Given the description of an element on the screen output the (x, y) to click on. 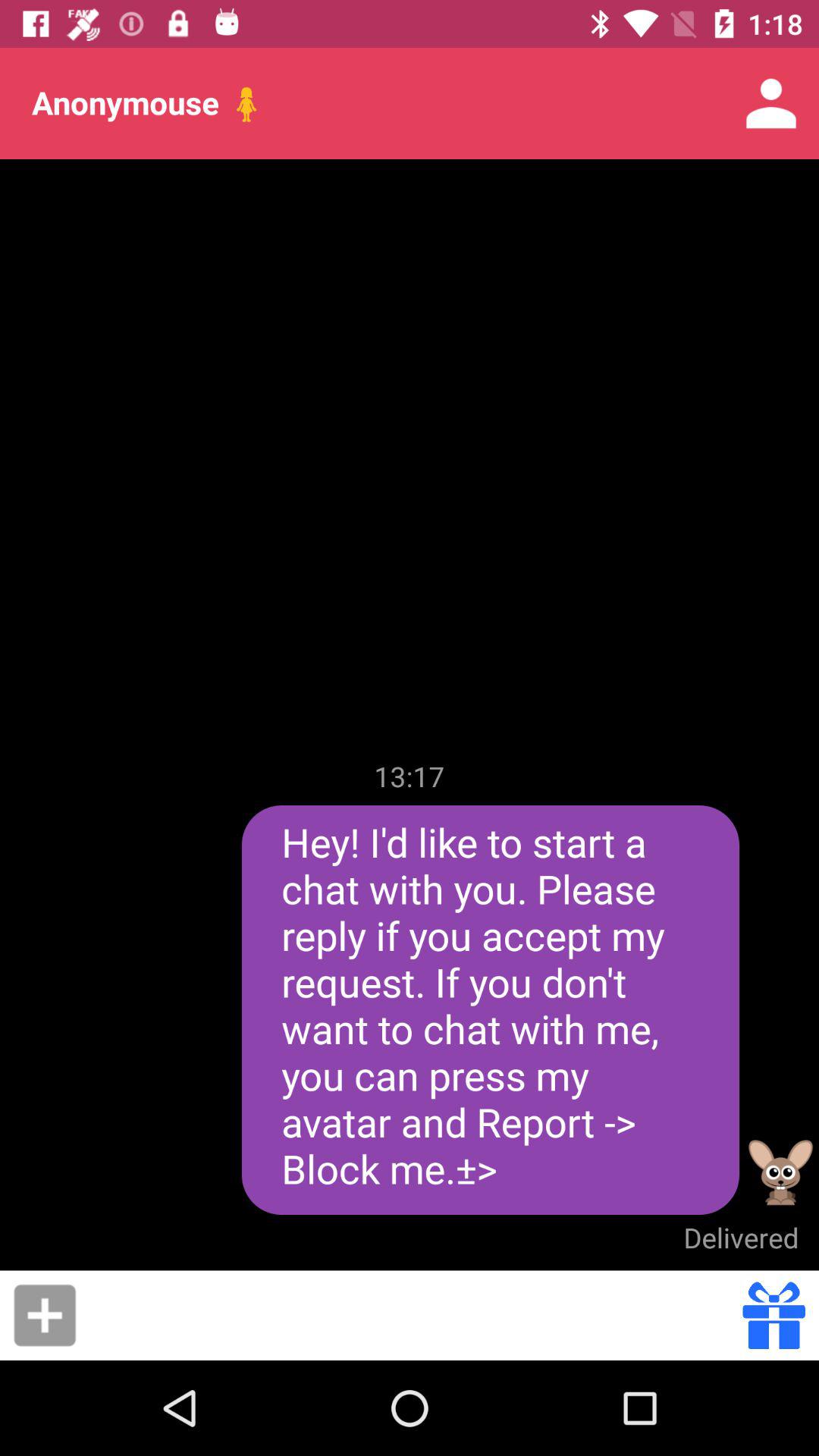
gift select icon (774, 1315)
